Given the description of an element on the screen output the (x, y) to click on. 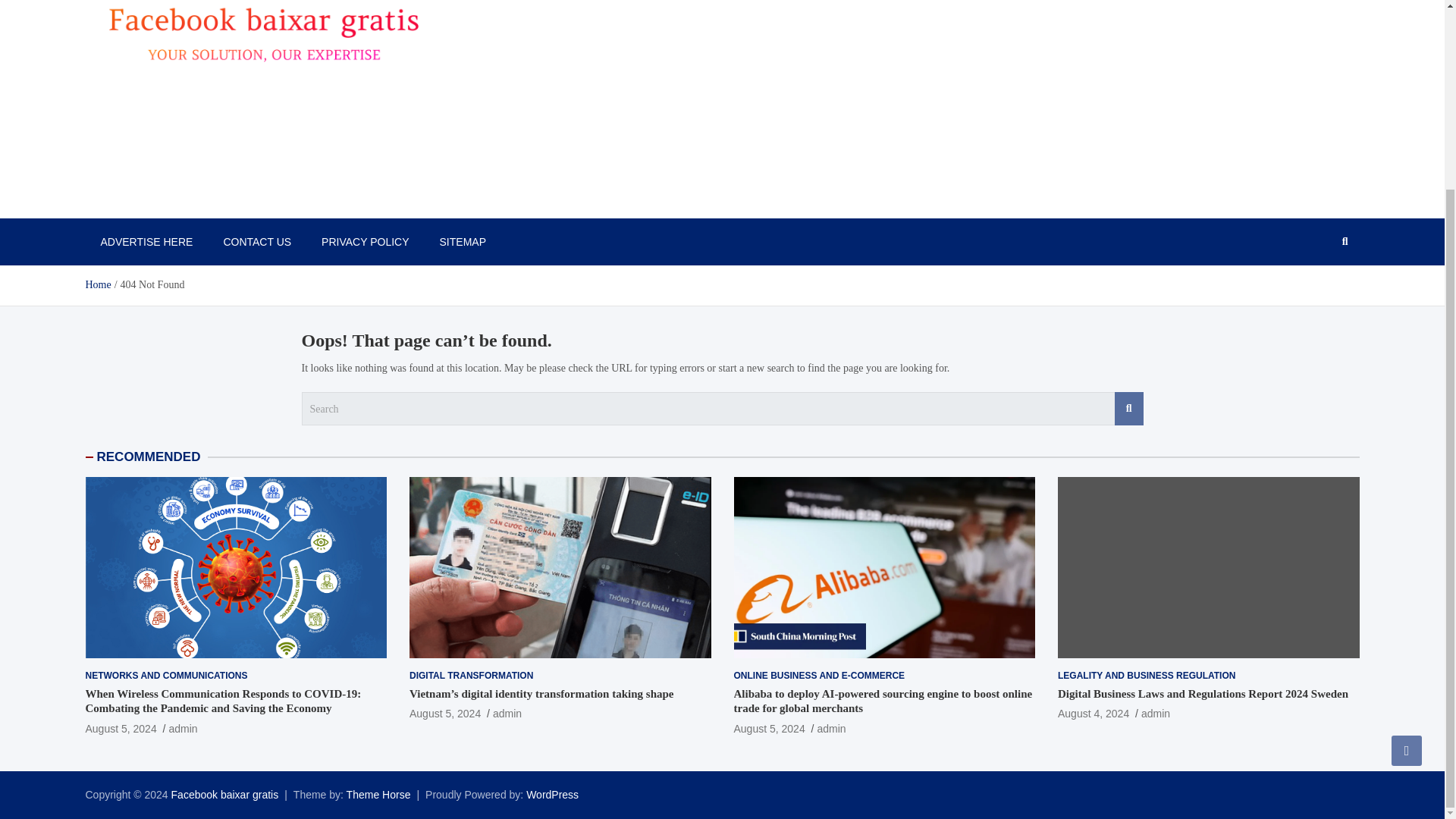
Go to Top (1406, 514)
Digital Business Laws and Regulations Report 2024 Sweden (1203, 693)
Home (97, 284)
PRIVACY POLICY (364, 241)
SITEMAP (462, 241)
Search (1128, 408)
WordPress (551, 794)
August 5, 2024 (119, 728)
DIGITAL TRANSFORMATION (470, 676)
Digital Business Laws and Regulations Report 2024 Sweden (1093, 713)
Theme Horse (378, 794)
Facebook baixar gratis (225, 794)
LEGALITY AND BUSINESS REGULATION (1146, 676)
Facebook baixar gratis (225, 794)
